Given the description of an element on the screen output the (x, y) to click on. 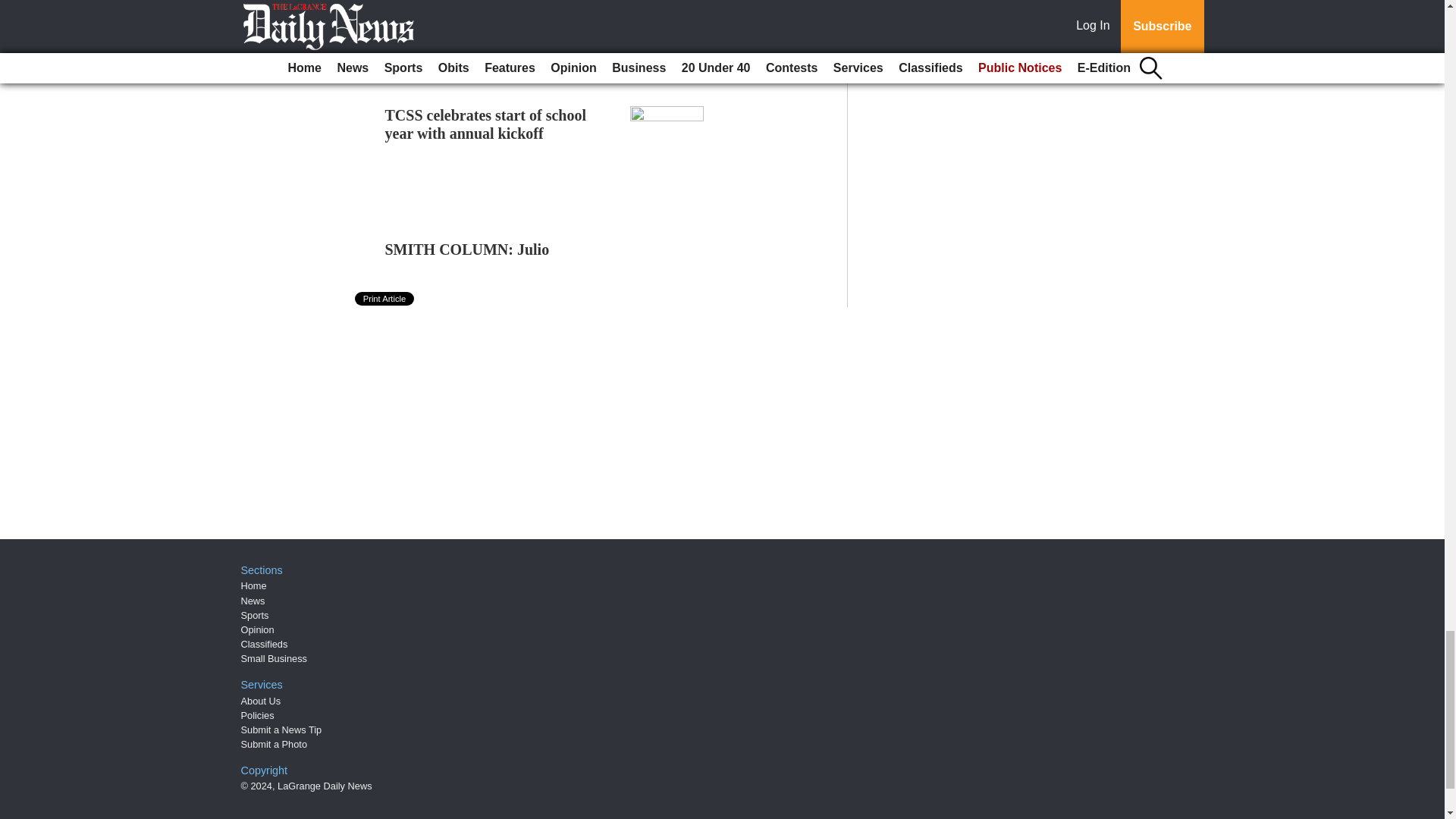
TCSS celebrates start of school year with annual kickoff (485, 124)
TCSS celebrates start of school year with annual kickoff (485, 124)
SMITH COLUMN: Julio (467, 248)
SMITH COLUMN: Julio (467, 248)
Print Article (384, 298)
